Given the description of an element on the screen output the (x, y) to click on. 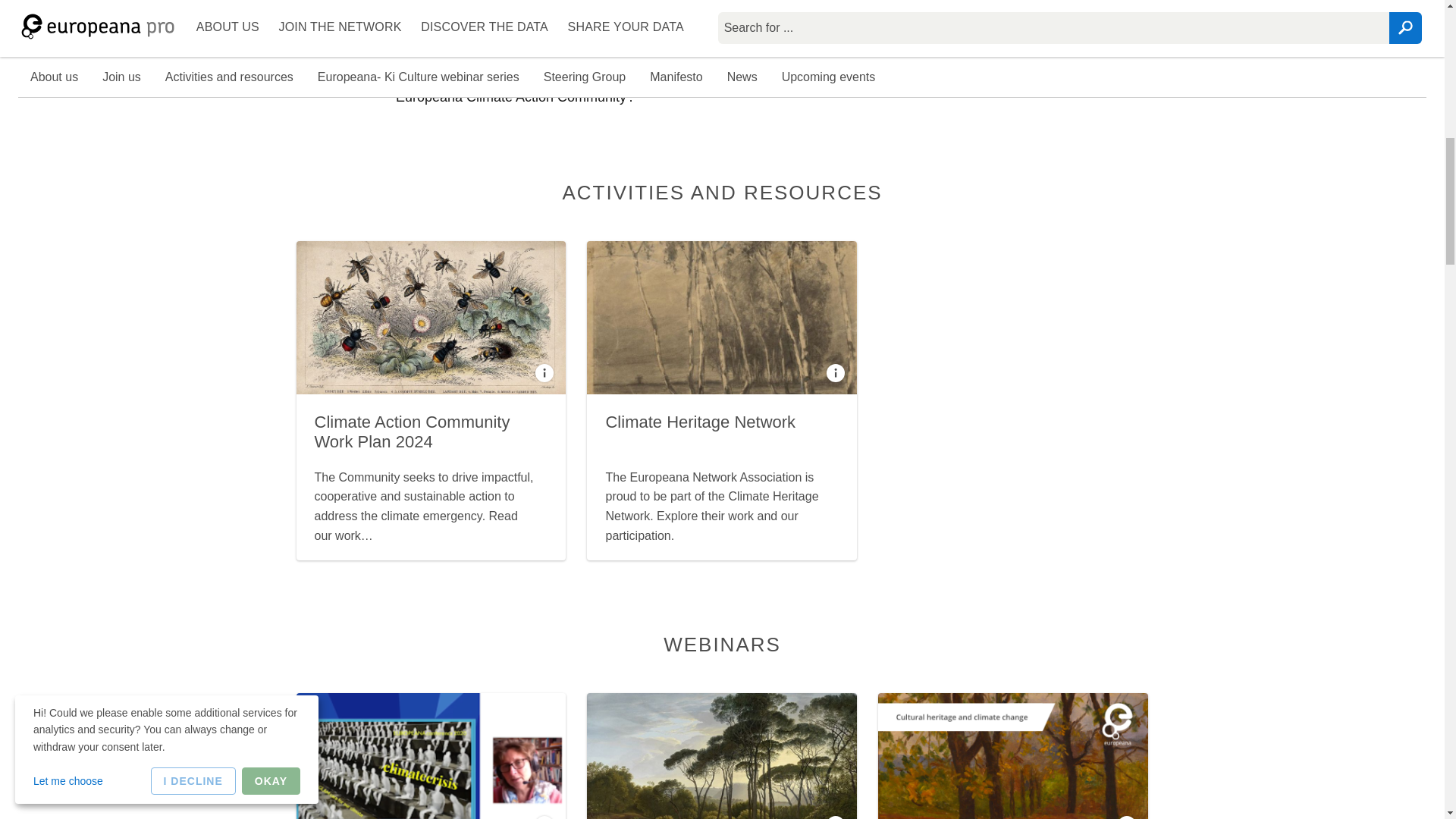
Climate Action Community Work Plan 2024 (411, 431)
sign up to join the ENA (797, 74)
Climate Heritage Network (699, 421)
complete our form for existing ENA members (573, 29)
